Given the description of an element on the screen output the (x, y) to click on. 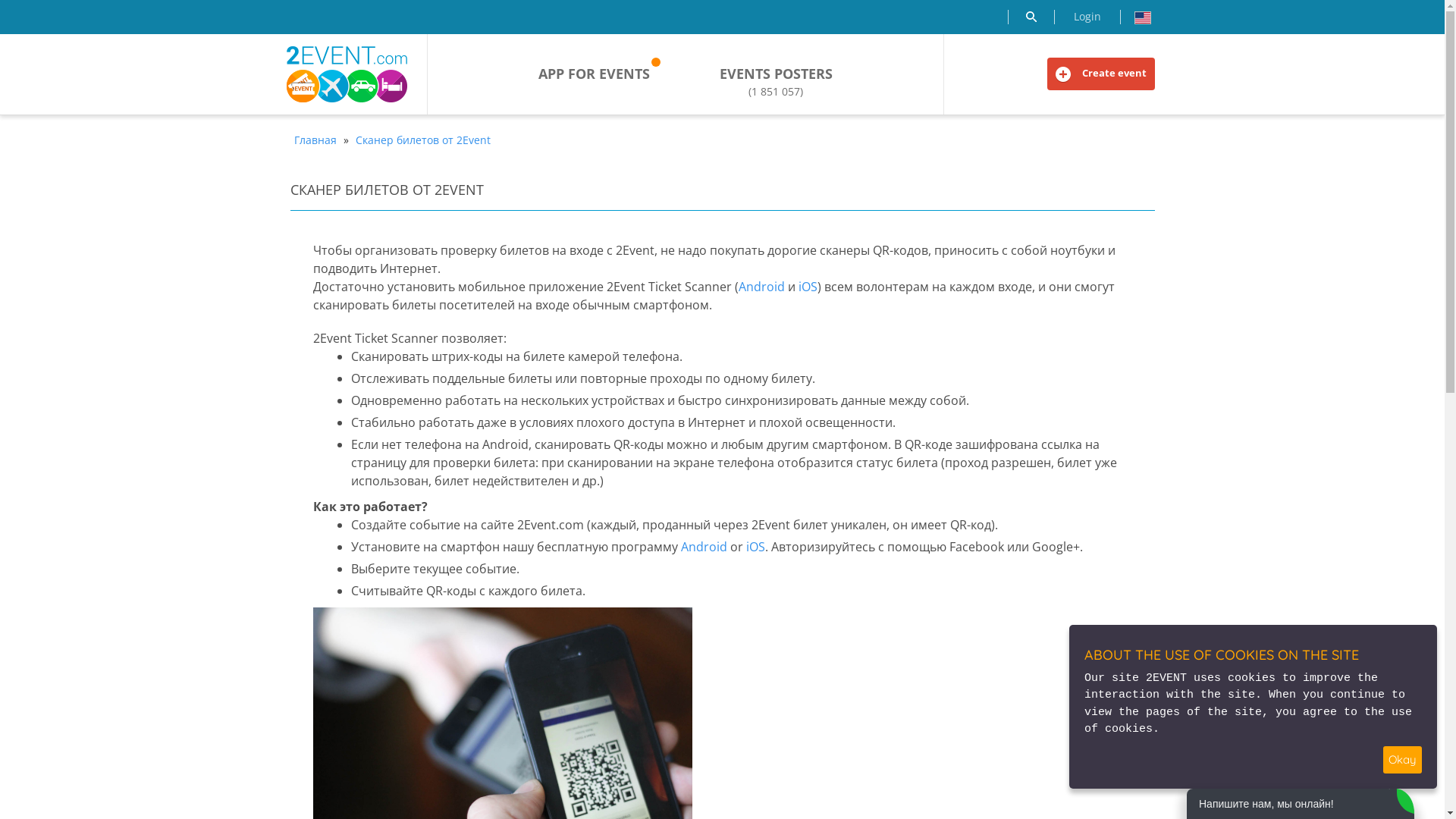
EVENTS POSTERS
(1 851 057) Element type: text (776, 81)
iOS Element type: text (806, 286)
APP FOR EVENTS Element type: text (593, 73)
Login Element type: text (1087, 16)
Okay Element type: text (1402, 760)
iOS Element type: text (755, 546)
Android Element type: text (703, 546)
Search Element type: hover (1030, 16)
Android Element type: text (761, 286)
Create event Element type: text (1100, 73)
